Given the description of an element on the screen output the (x, y) to click on. 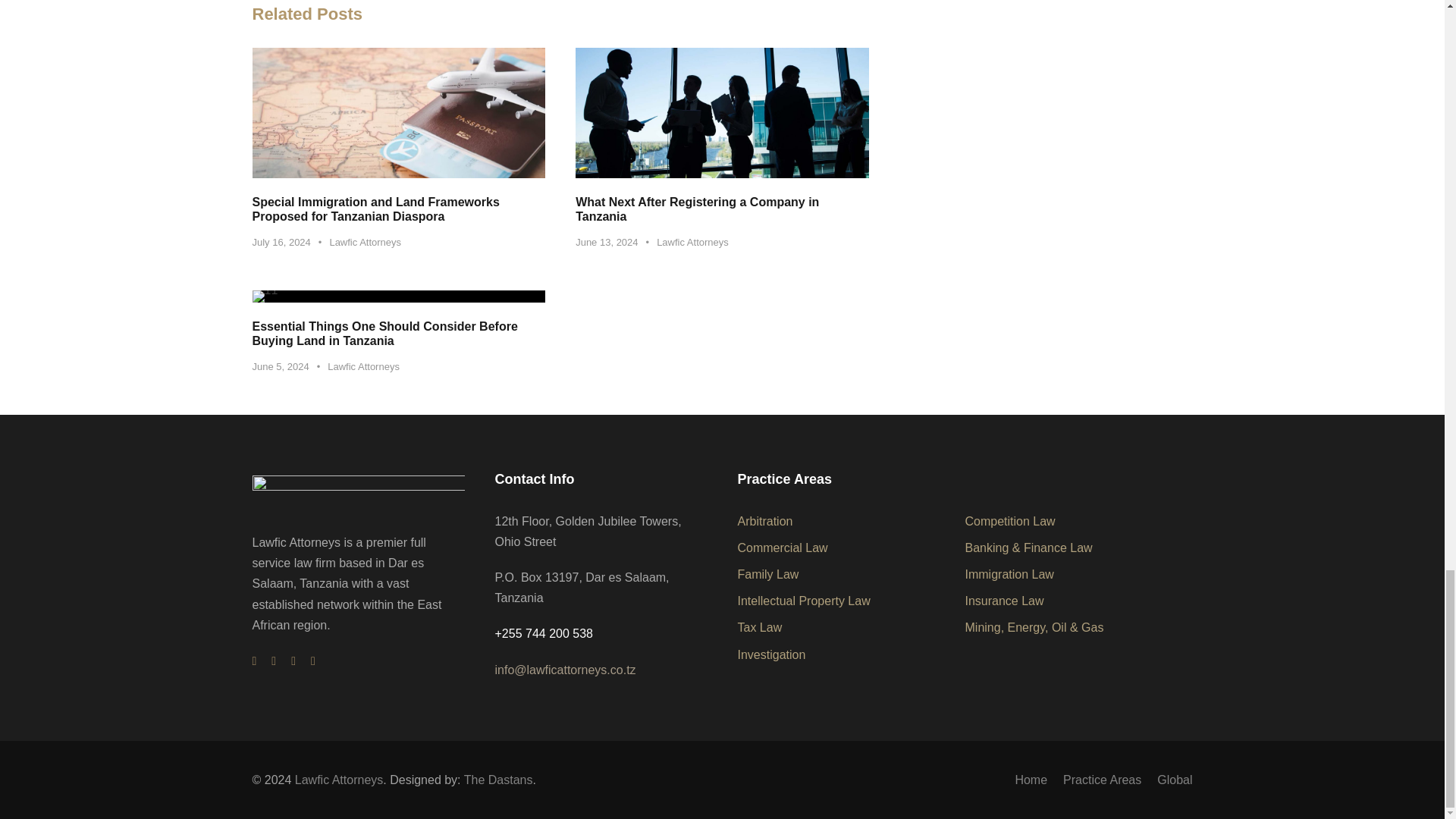
Posts by Lawfic Attorneys (365, 242)
Posts by Lawfic Attorneys (362, 366)
Posts by Lawfic Attorneys (692, 242)
July 16, 2024 (280, 242)
Lawfic Attorneys (365, 242)
What-Next-After-Registering-a-Company-in-Tanzania (722, 112)
